Given the description of an element on the screen output the (x, y) to click on. 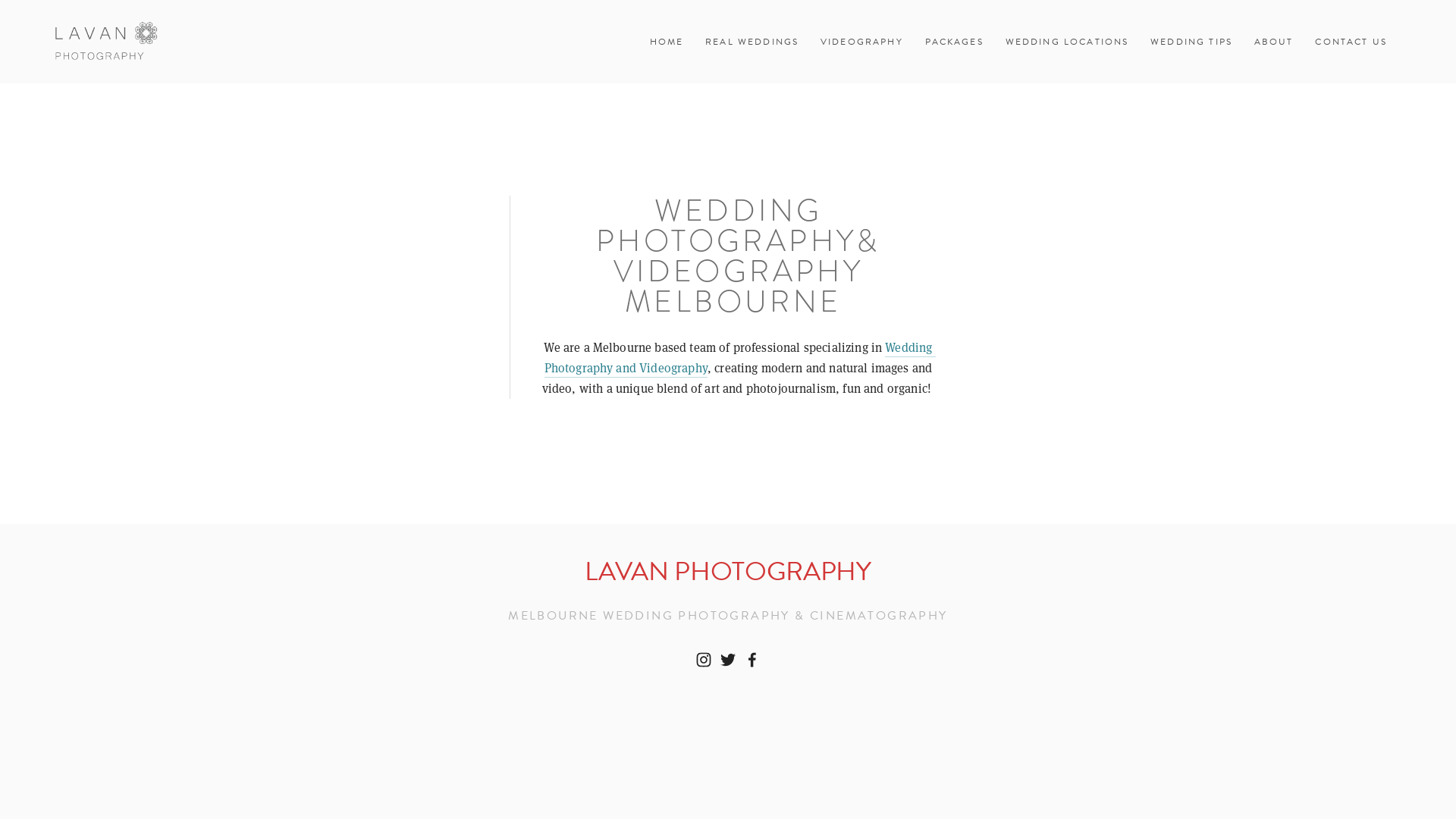
WEDDING TIPS Element type: text (1191, 41)
ABOUT Element type: text (1273, 41)
HOME Element type: text (666, 41)
WEDDING LOCATIONS Element type: text (1067, 41)
REAL WEDDINGS Element type: text (751, 41)
CONTACT US Element type: text (1350, 41)
VIDEOGRAPHY Element type: text (861, 41)
PACKAGES Element type: text (954, 41)
Wedding Photography and Videography Element type: text (739, 358)
